Given the description of an element on the screen output the (x, y) to click on. 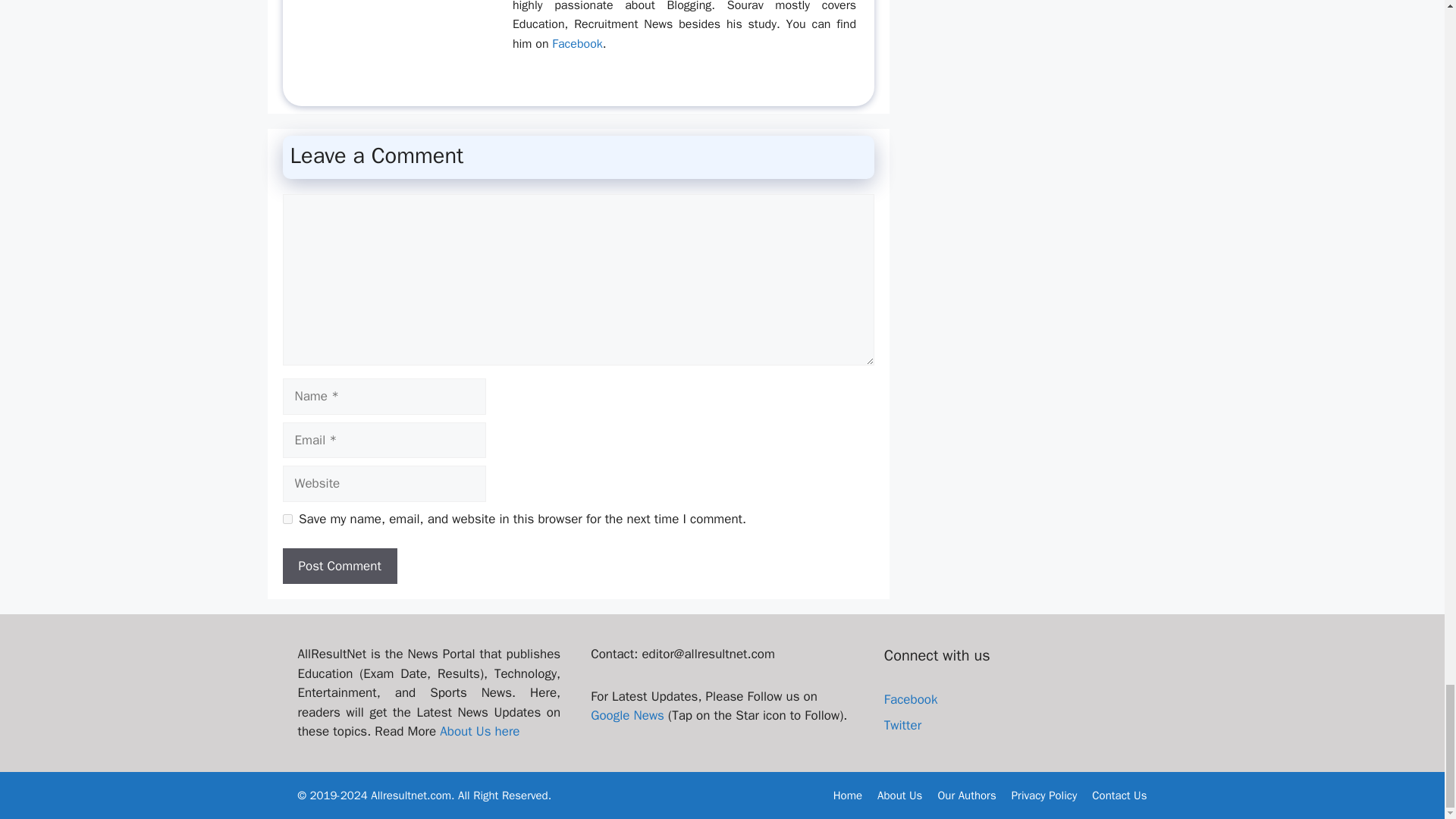
Facebook (576, 43)
yes (287, 519)
Post Comment (339, 565)
Post Comment (339, 565)
